Given the description of an element on the screen output the (x, y) to click on. 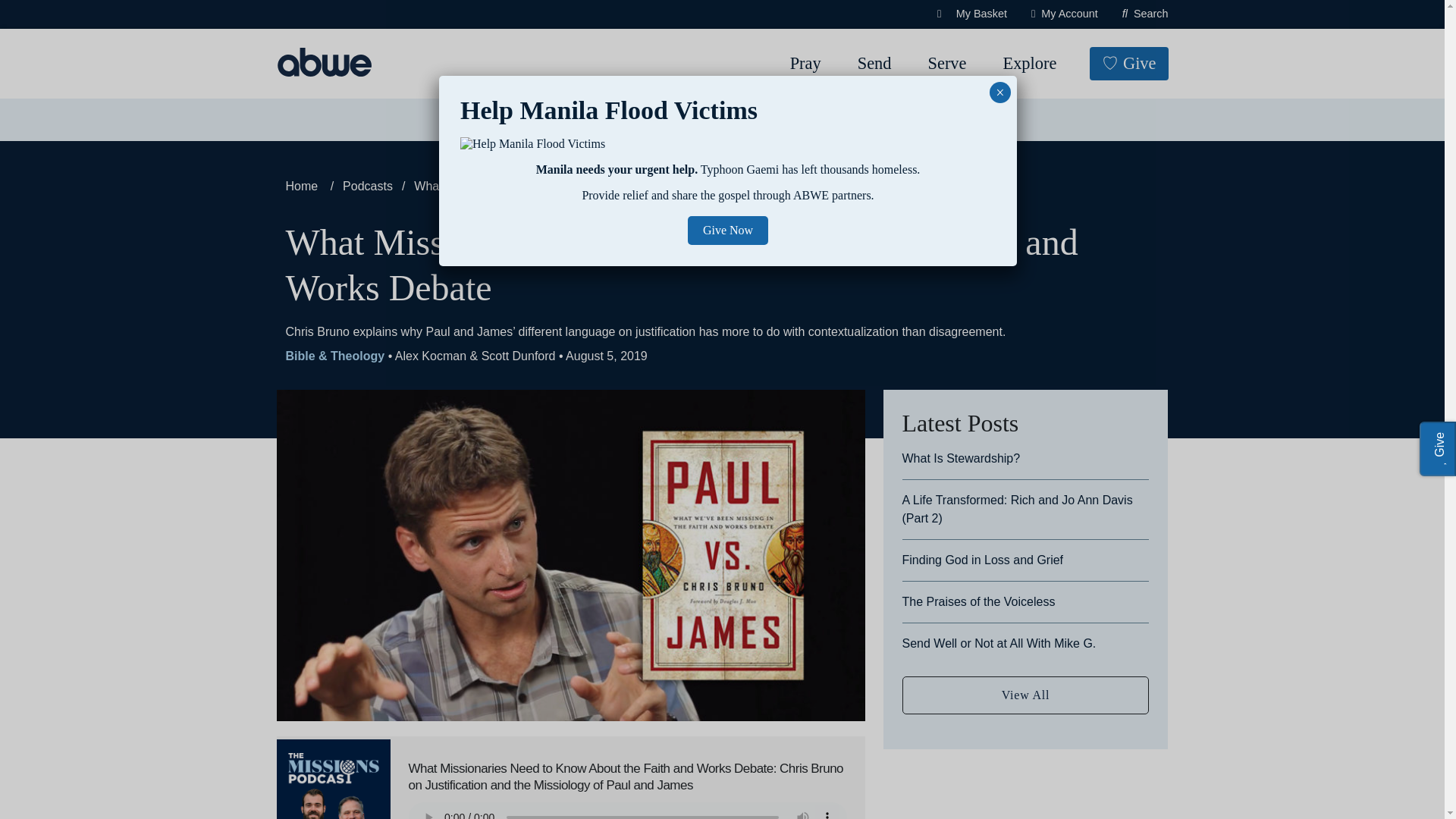
Message Magazine (682, 119)
My Basket (972, 14)
Articles (567, 119)
Topics (487, 119)
Send (874, 63)
Explore (1028, 63)
My Account (1063, 14)
Pray (805, 63)
Articles (567, 119)
Search (64, 18)
